Given the description of an element on the screen output the (x, y) to click on. 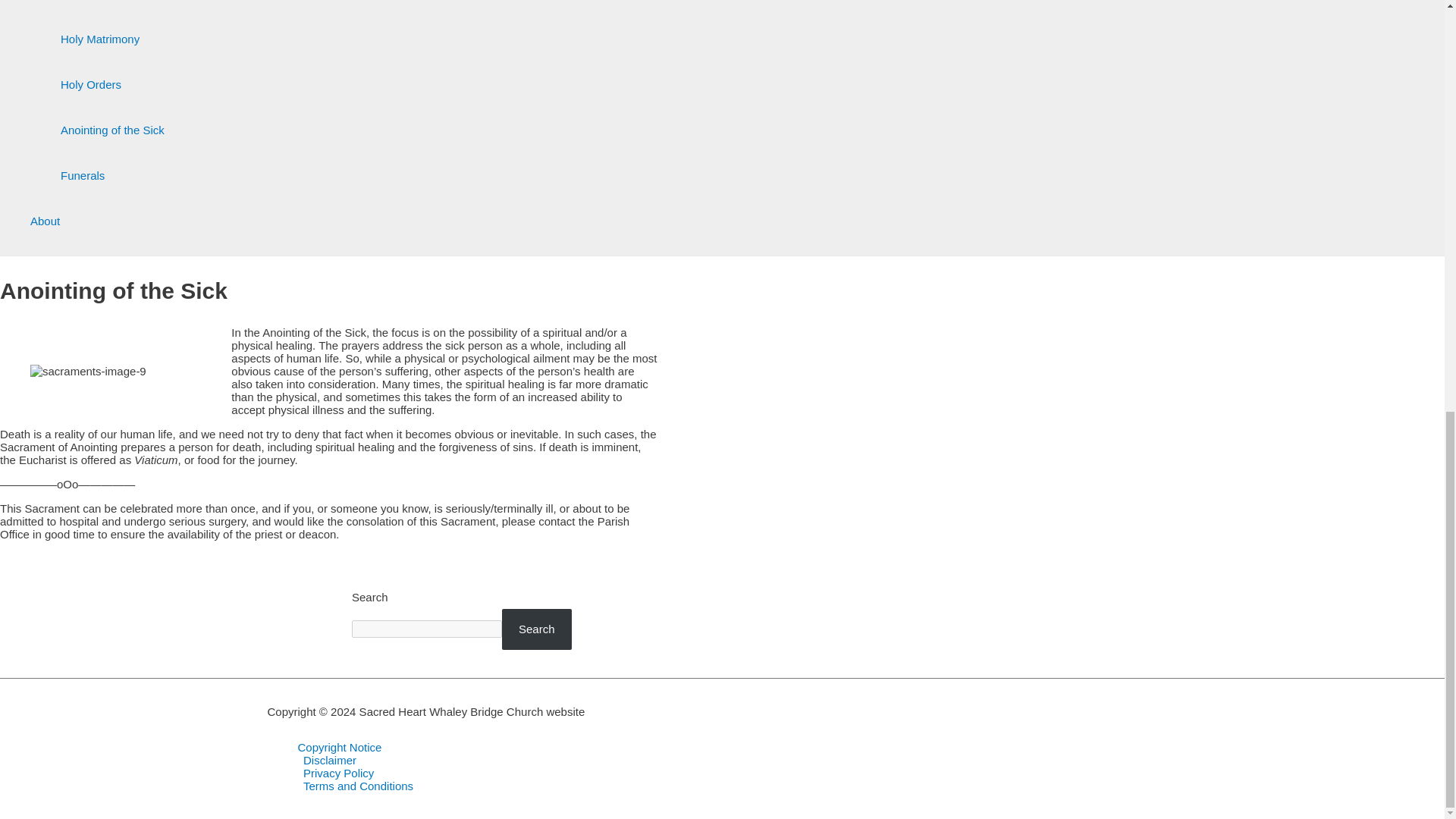
Confirmation (112, 8)
Holy Orders (112, 84)
Holy Matrimony (112, 39)
About (97, 221)
Anointing of the Sick (112, 130)
Funerals (112, 176)
